Given the description of an element on the screen output the (x, y) to click on. 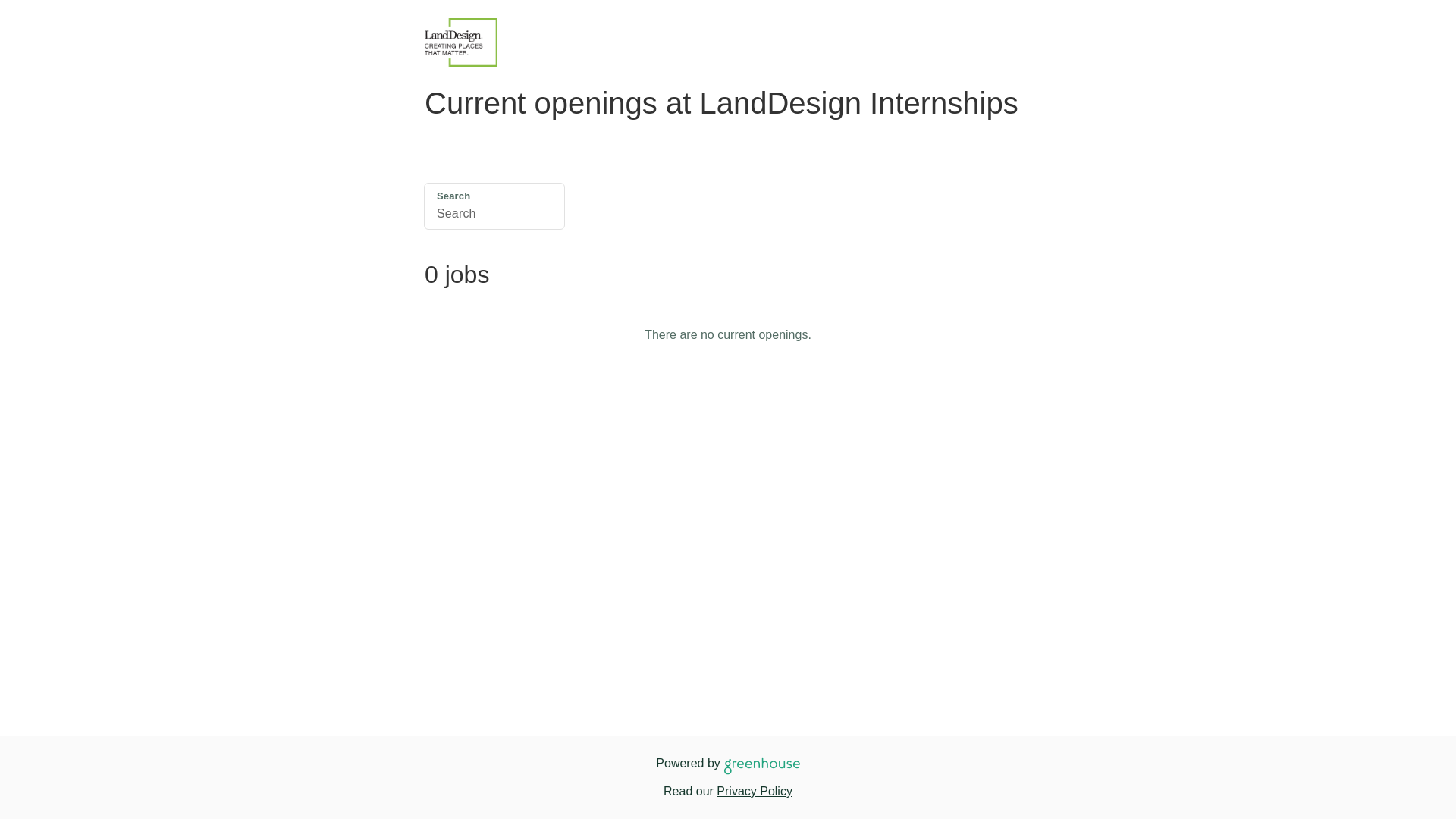
Privacy Policy (754, 790)
